Given the description of an element on the screen output the (x, y) to click on. 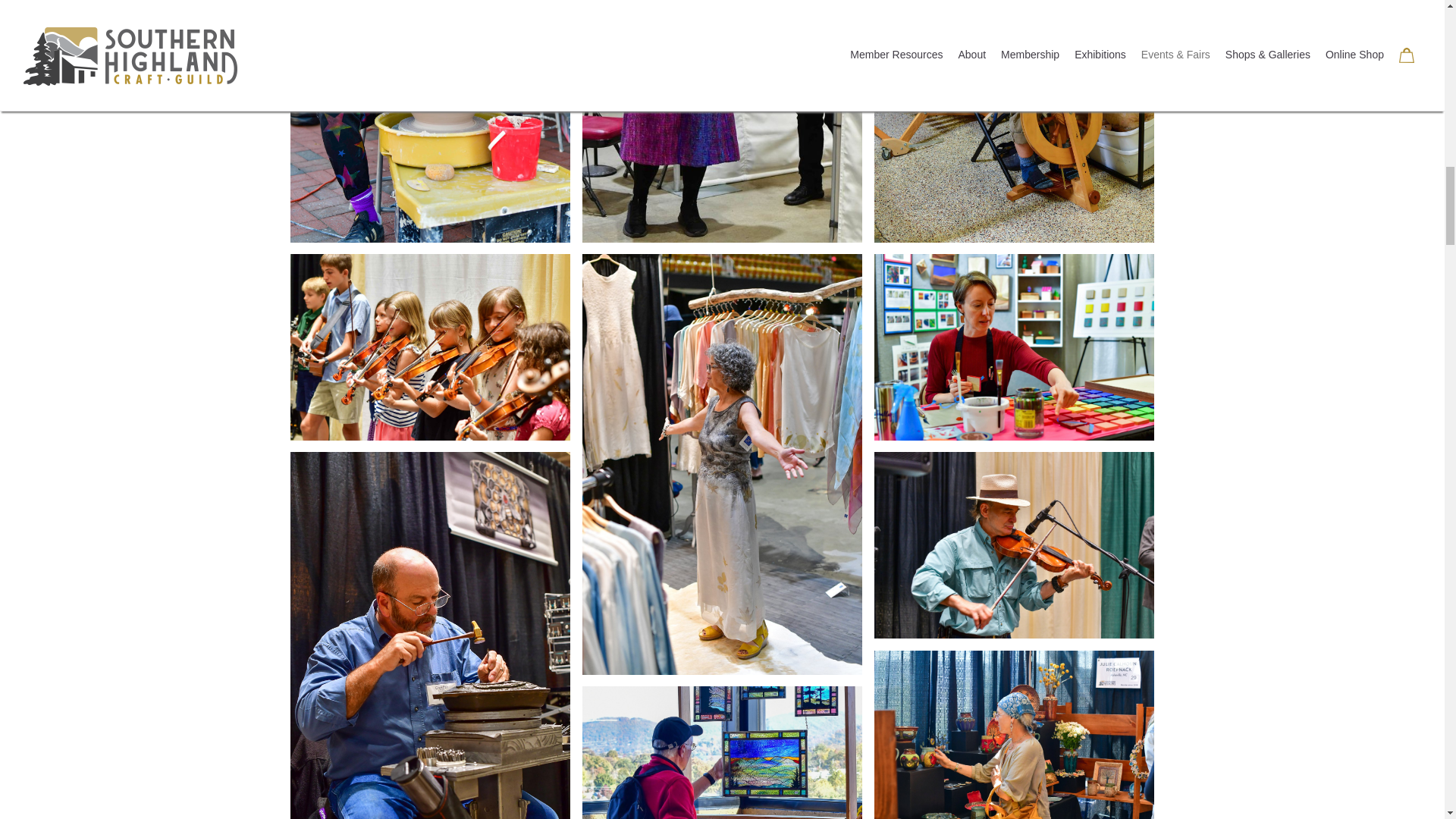
JAM Ambassadors (429, 347)
Craft Fair 2023 - 7 (1013, 545)
Valerie B (1013, 347)
Local Cloth (1013, 121)
Liz Spear (722, 121)
Odyssey (429, 121)
